Given the description of an element on the screen output the (x, y) to click on. 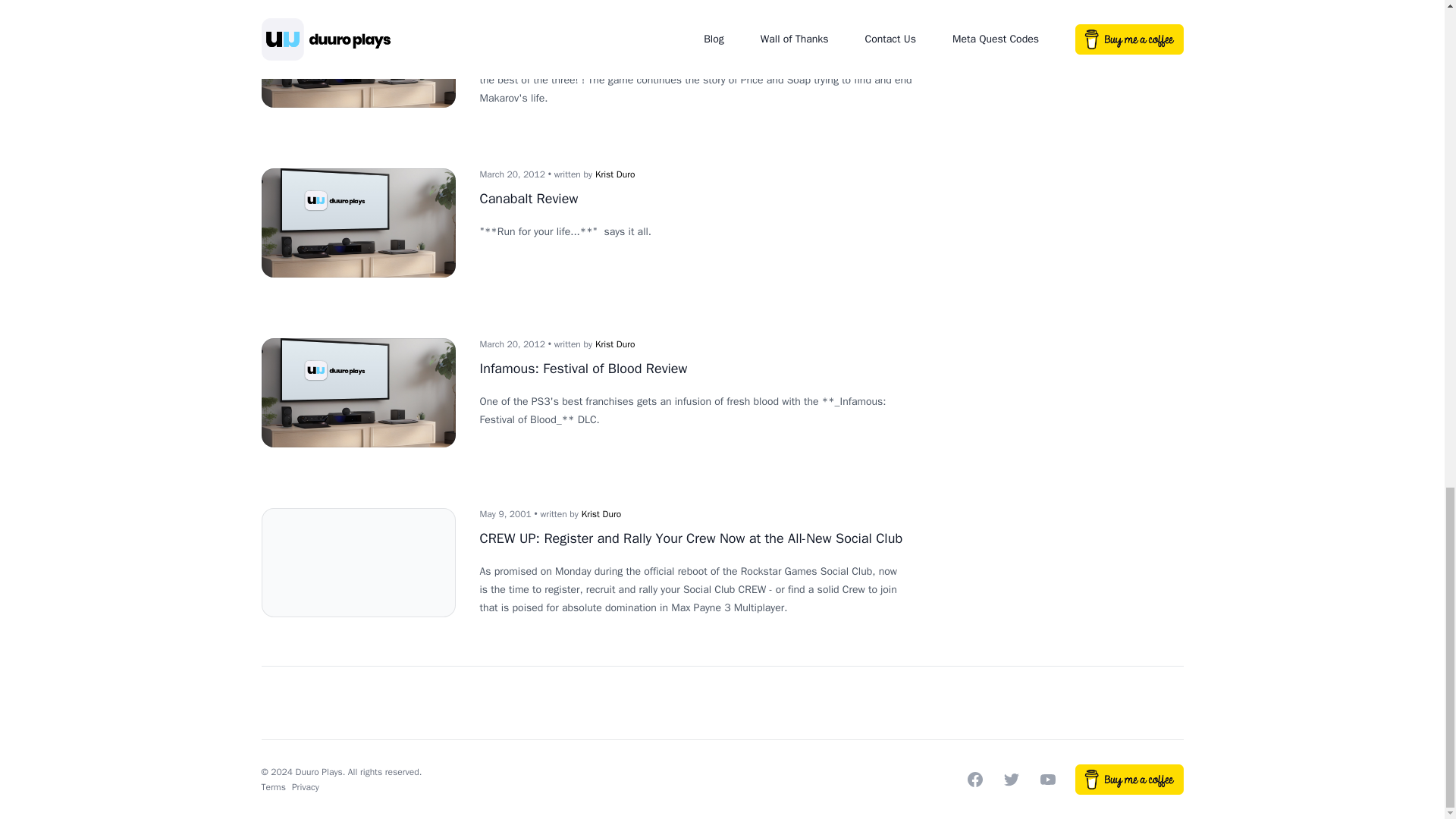
Infamous: Festival of Blood Review (583, 368)
Krist Duro (600, 513)
Privacy (305, 787)
Canabalt Review (528, 198)
Terms (272, 787)
Krist Duro (614, 344)
Call Of Duty: Modern Warfare 3 Review (594, 28)
Krist Duro (614, 5)
Krist Duro (614, 174)
